Given the description of an element on the screen output the (x, y) to click on. 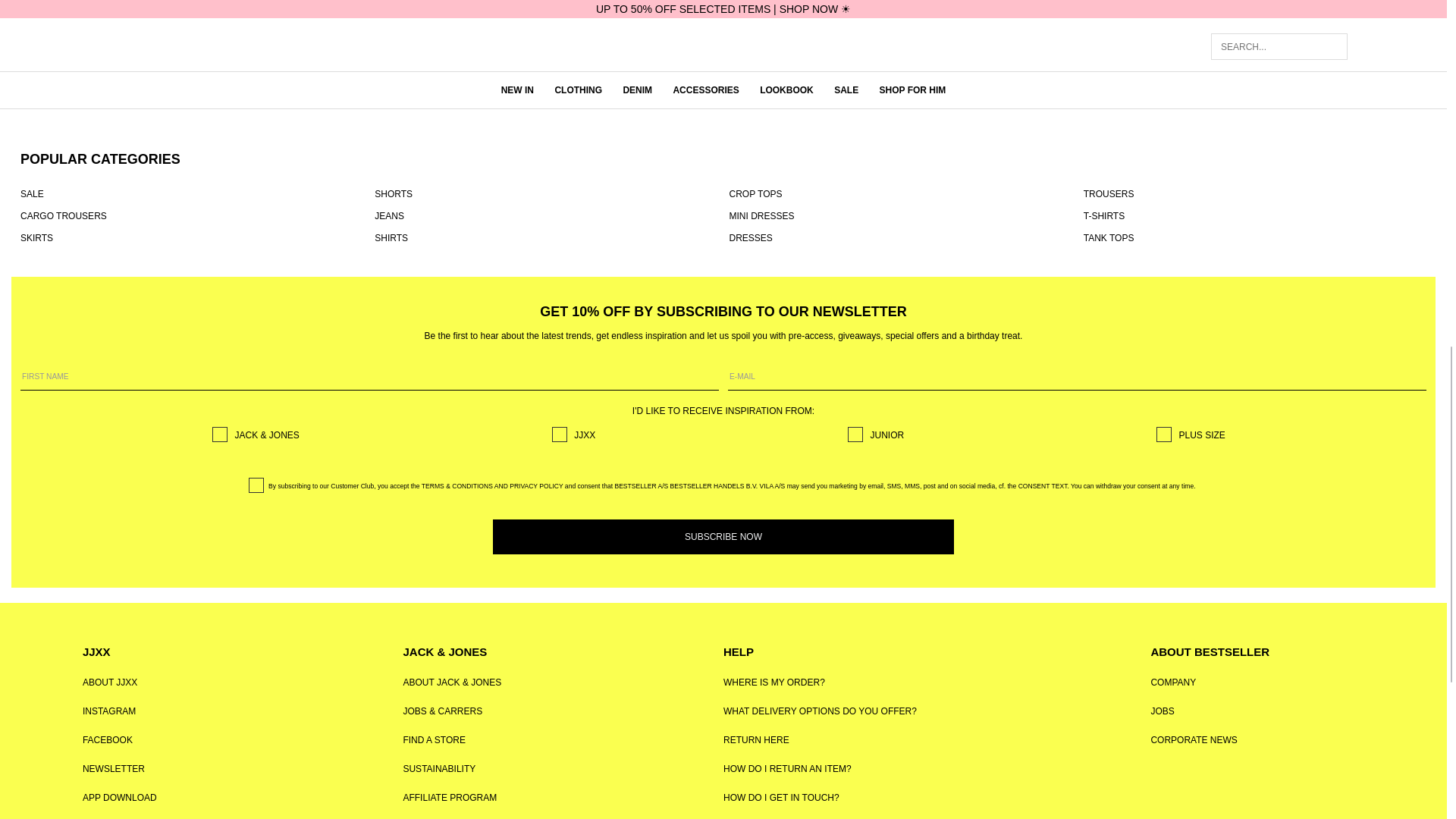
on (559, 434)
CROP TOPS (900, 194)
SKIRTS (191, 237)
DRESSES (900, 237)
SHORTS (545, 194)
on (219, 434)
T-SHIRTS (1254, 215)
TROUSERS (1254, 194)
ABOUT JJXX (109, 682)
INSTAGRAM (108, 710)
APP DOWNLOAD (119, 797)
NEWSLETTER (113, 768)
on (1164, 434)
TANK TOPS (1254, 237)
SUBSCRIBE NOW (723, 536)
